Given the description of an element on the screen output the (x, y) to click on. 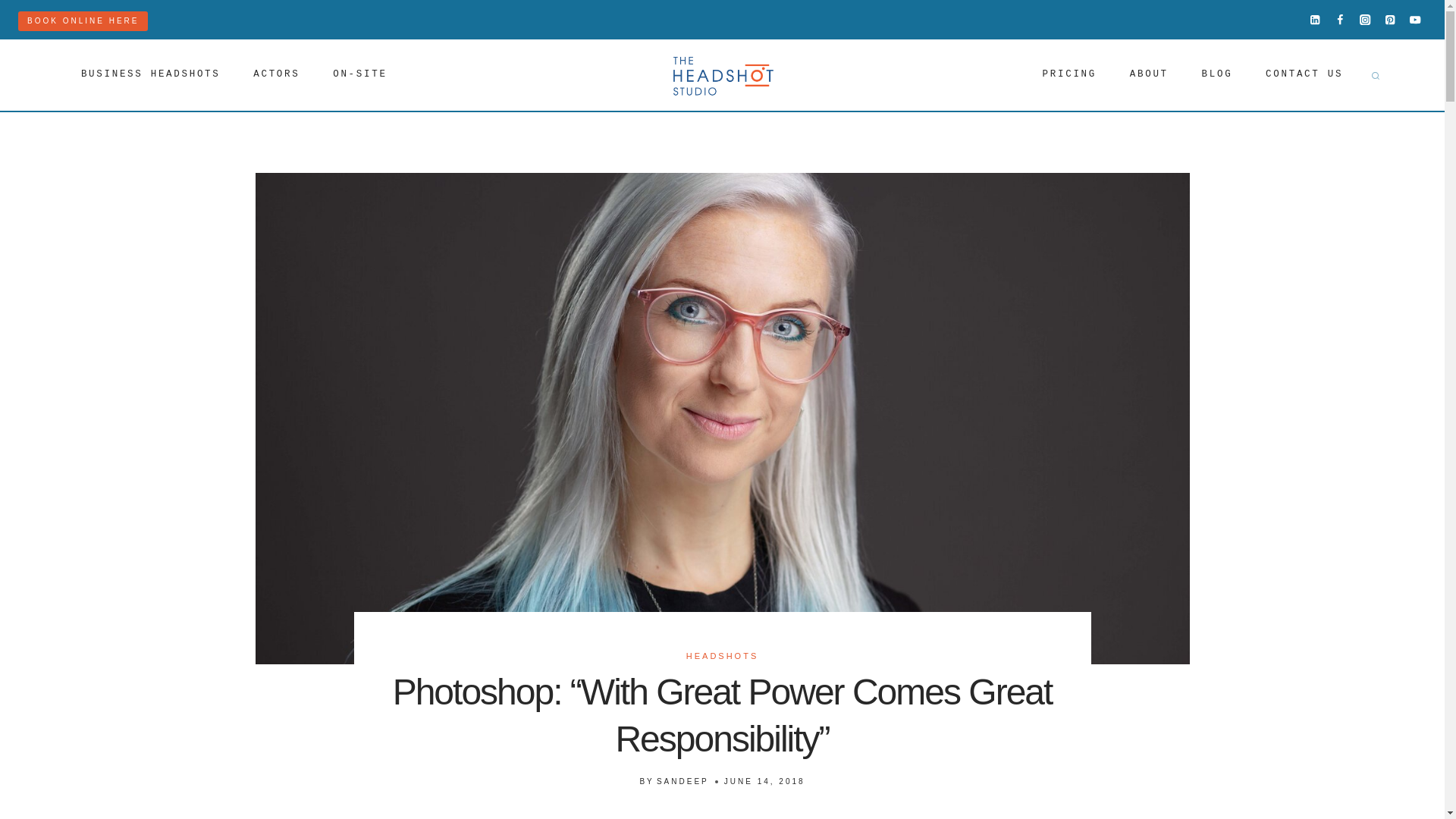
CONTACT US (1304, 75)
BOOK ONLINE HERE (82, 21)
SANDEEP (682, 781)
BUSINESS HEADSHOTS (149, 75)
ACTORS (275, 75)
ABOUT (1149, 75)
HEADSHOTS (721, 655)
BLOG (1217, 75)
ON-SITE (359, 75)
PRICING (1069, 75)
